Given the description of an element on the screen output the (x, y) to click on. 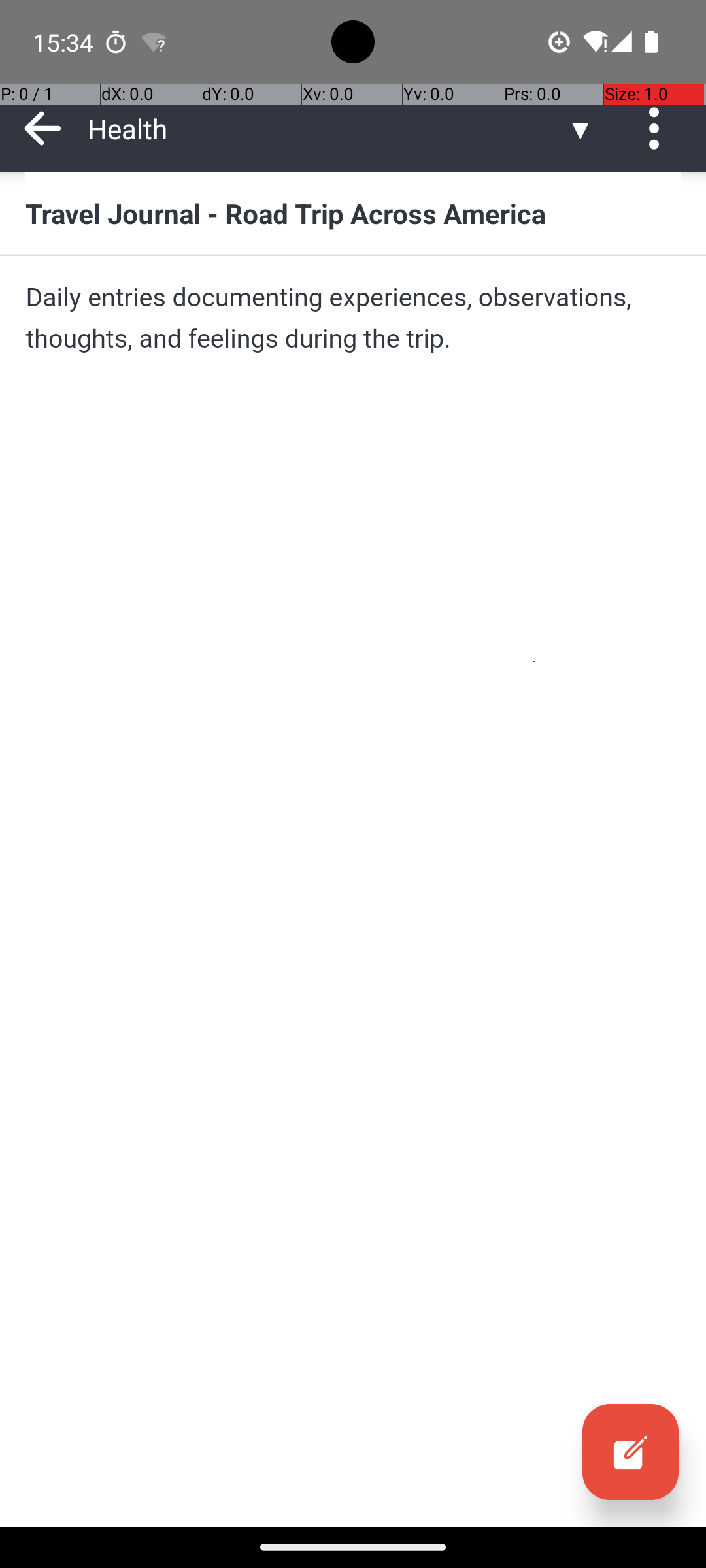
Daily entries documenting experiences, observations, thoughts, and feelings during the trip. Element type: android.widget.TextView (352, 317)
